Given the description of an element on the screen output the (x, y) to click on. 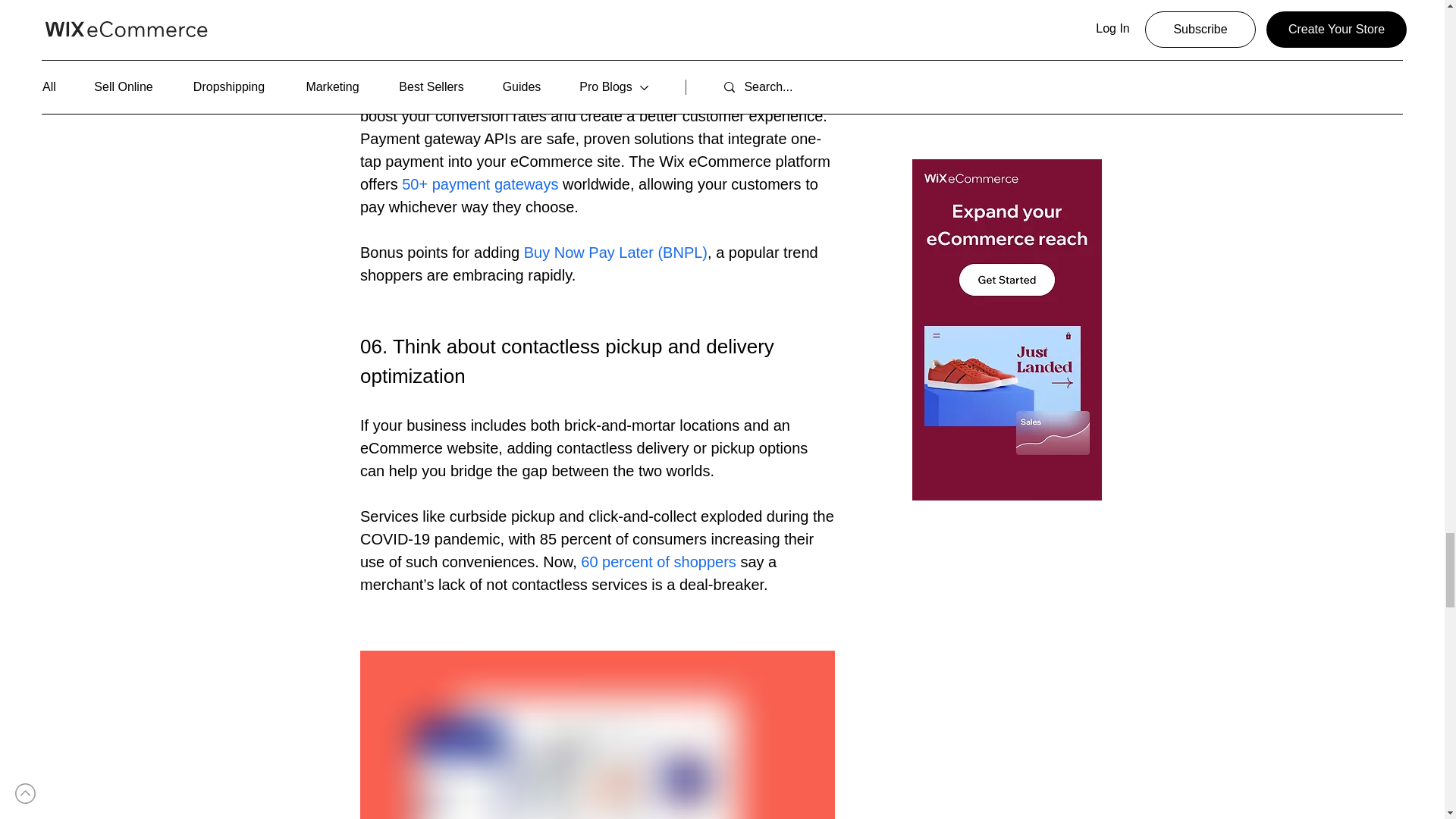
optimizing checkout can increase conversions by 35 percent (573, 16)
60 percent of shoppers  (659, 561)
